Given the description of an element on the screen output the (x, y) to click on. 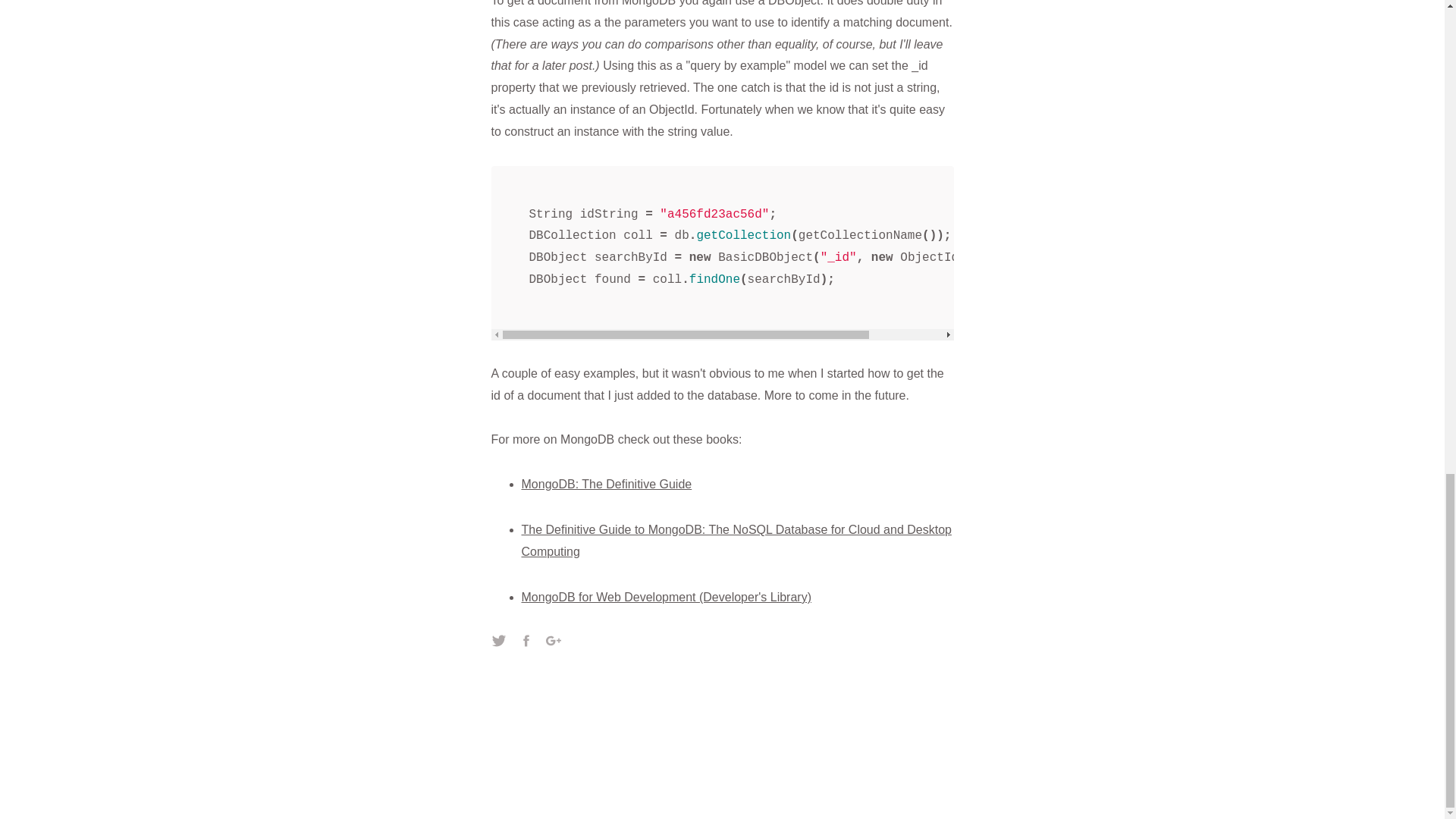
MongoDB: The Definitive Guide (607, 483)
